Given the description of an element on the screen output the (x, y) to click on. 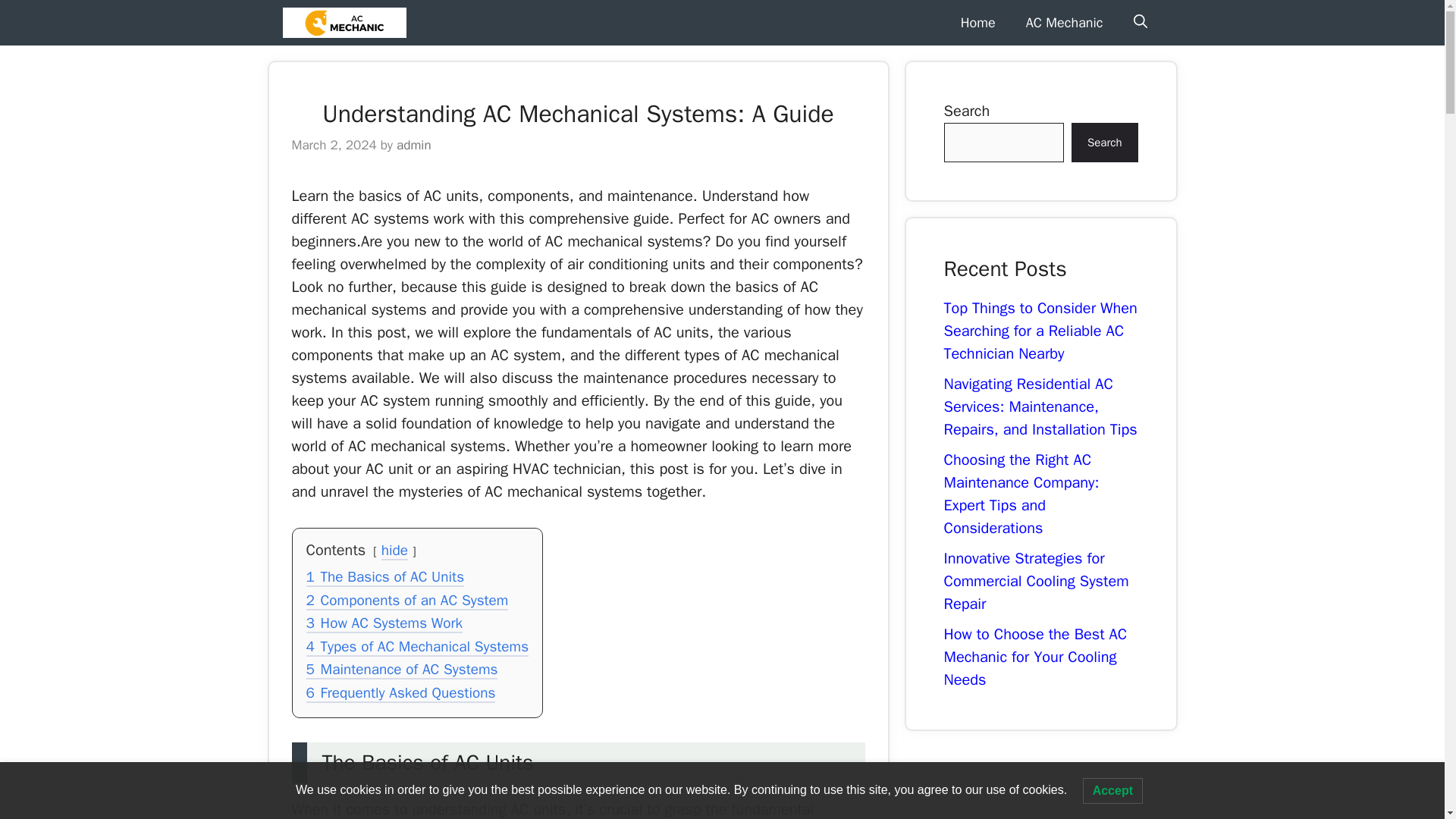
Innovative Strategies for Commercial Cooling System Repair (1035, 580)
2 Components of an AC System (406, 601)
4 Types of AC Mechanical Systems (417, 648)
5 Maintenance of AC Systems (401, 670)
6 Frequently Asked Questions (400, 693)
Search (1104, 142)
How to Choose the Best AC Mechanic for Your Cooling Needs (1034, 656)
View all posts by admin (413, 145)
3 How AC Systems Work (384, 624)
hide (394, 551)
admin (413, 145)
AC Mechanic (344, 22)
Home (977, 22)
